Given the description of an element on the screen output the (x, y) to click on. 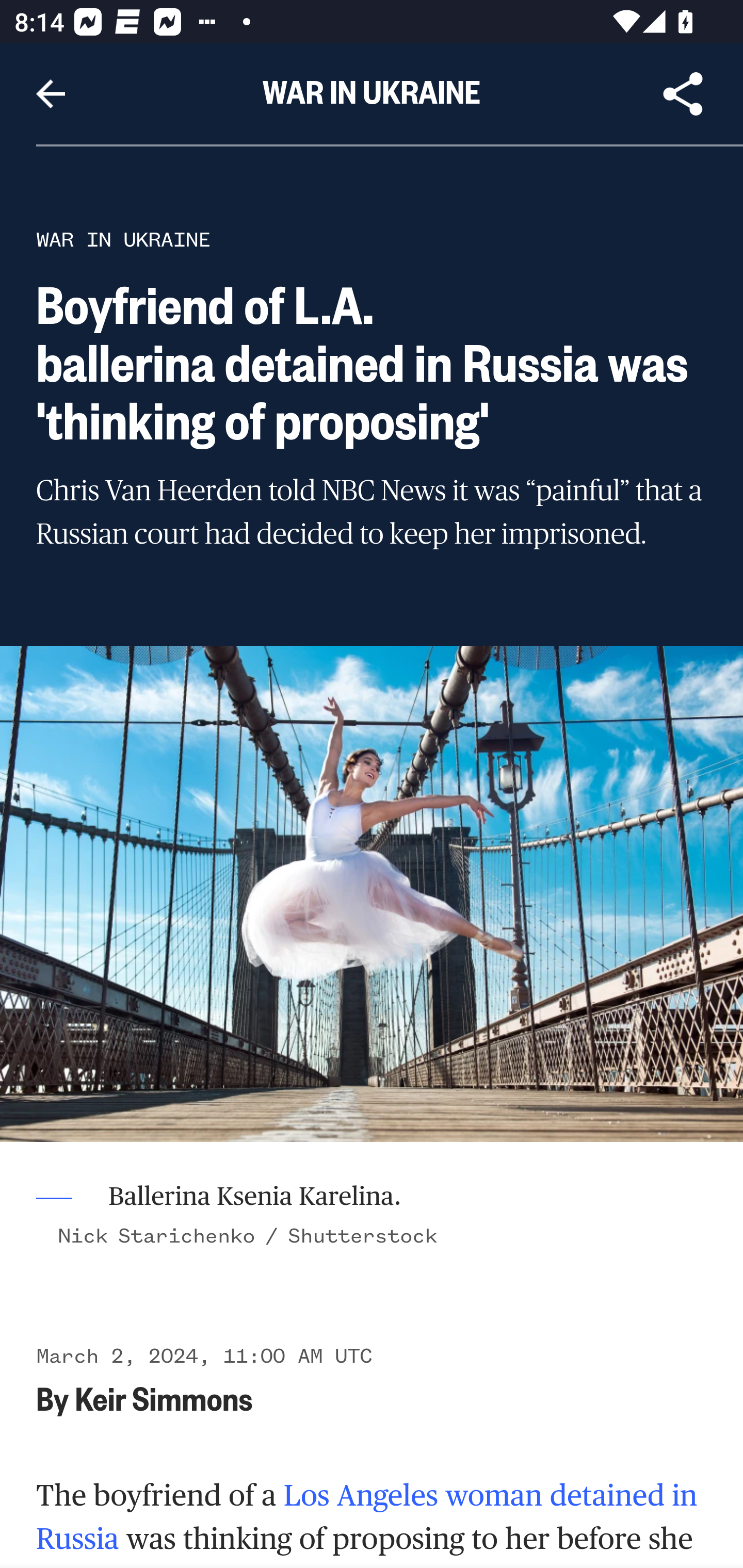
Navigate up (50, 93)
Share Article, button (683, 94)
WAR IN UKRAINE (123, 239)
Los Angeles woman detained in Russia (367, 1516)
